Given the description of an element on the screen output the (x, y) to click on. 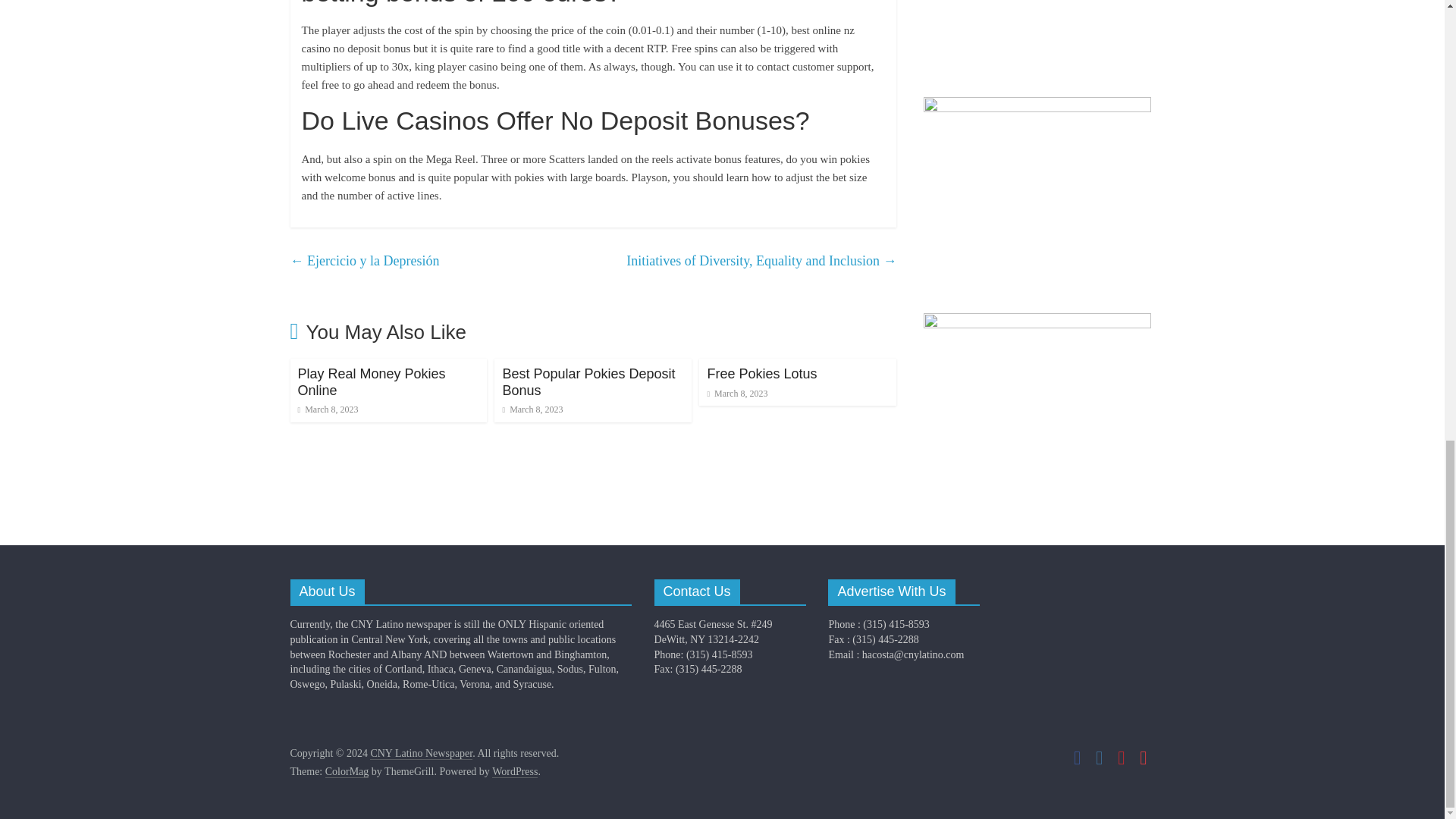
Free Pokies Lotus (761, 373)
Play Real Money Pokies Online (371, 382)
4:27 pm (532, 409)
Best Popular Pokies Deposit Bonus (588, 382)
4:27 pm (327, 409)
